Given the description of an element on the screen output the (x, y) to click on. 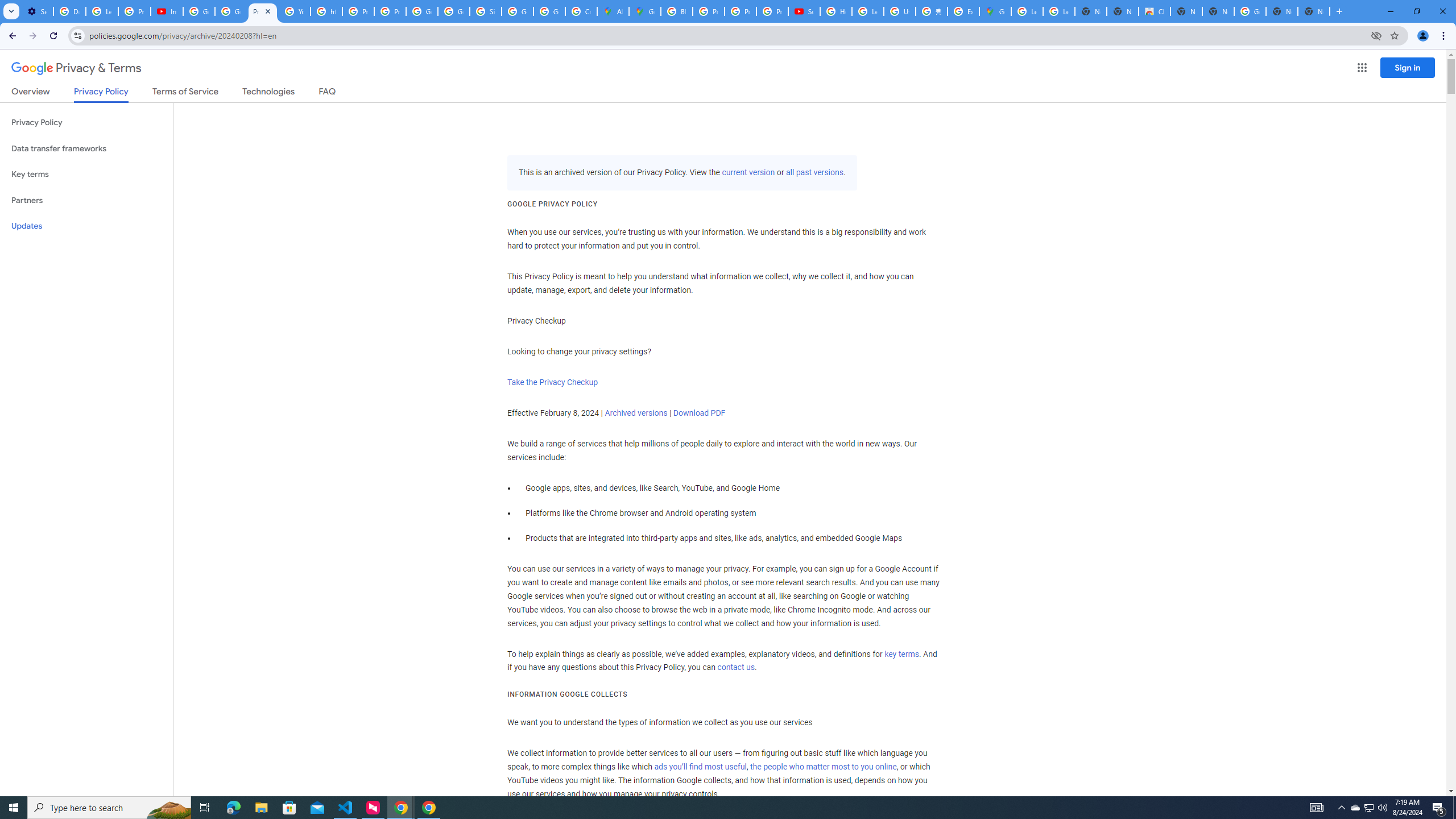
key terms (900, 653)
Data transfer frameworks (86, 148)
Explore new street-level details - Google Maps Help (963, 11)
contact us (735, 667)
Learn how to find your photos - Google Photos Help (101, 11)
the people who matter most to you online (822, 766)
